Given the description of an element on the screen output the (x, y) to click on. 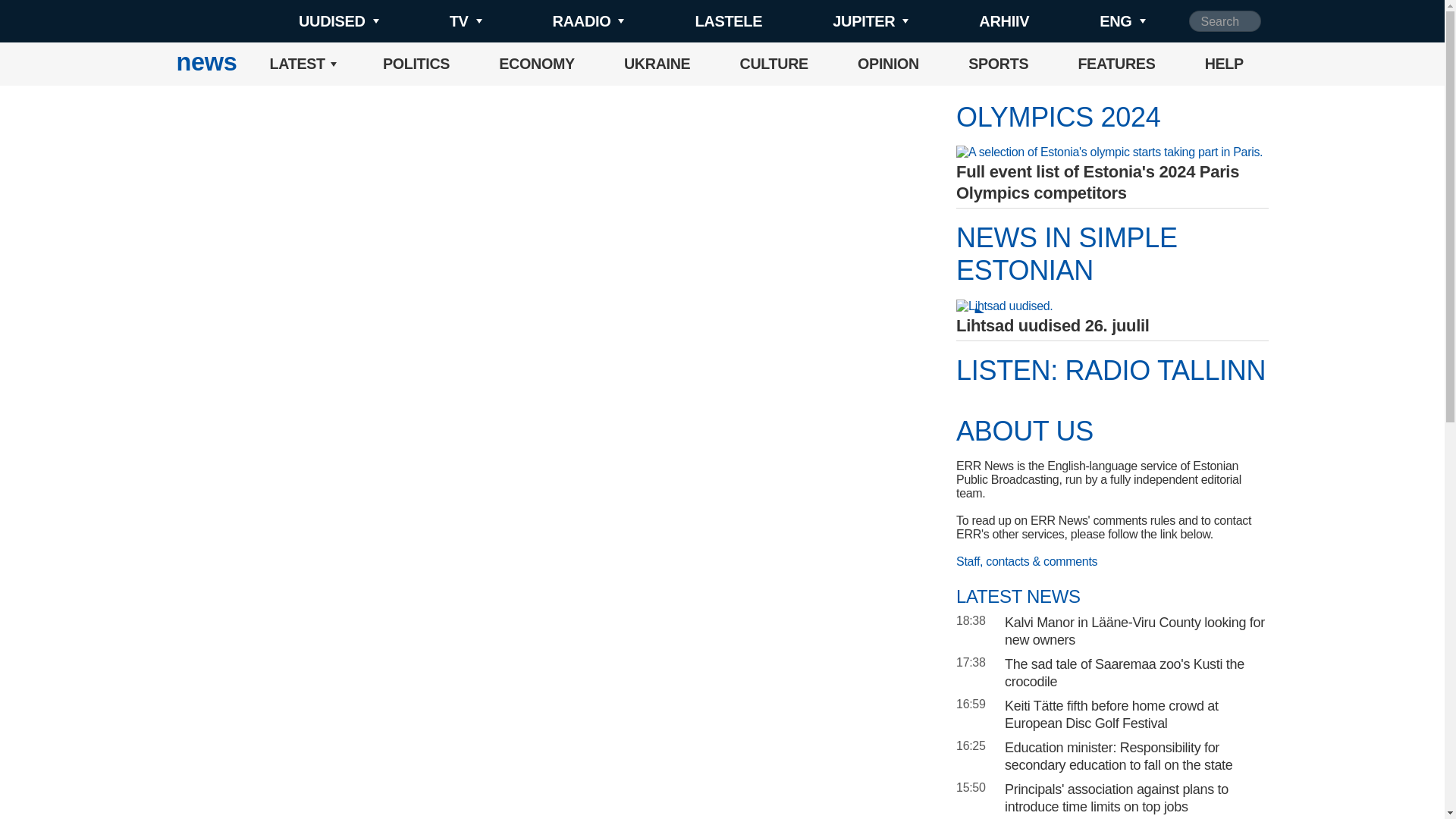
RAADIO (563, 21)
UUDISED (314, 21)
TV (440, 21)
Avalehele (205, 63)
